Given the description of an element on the screen output the (x, y) to click on. 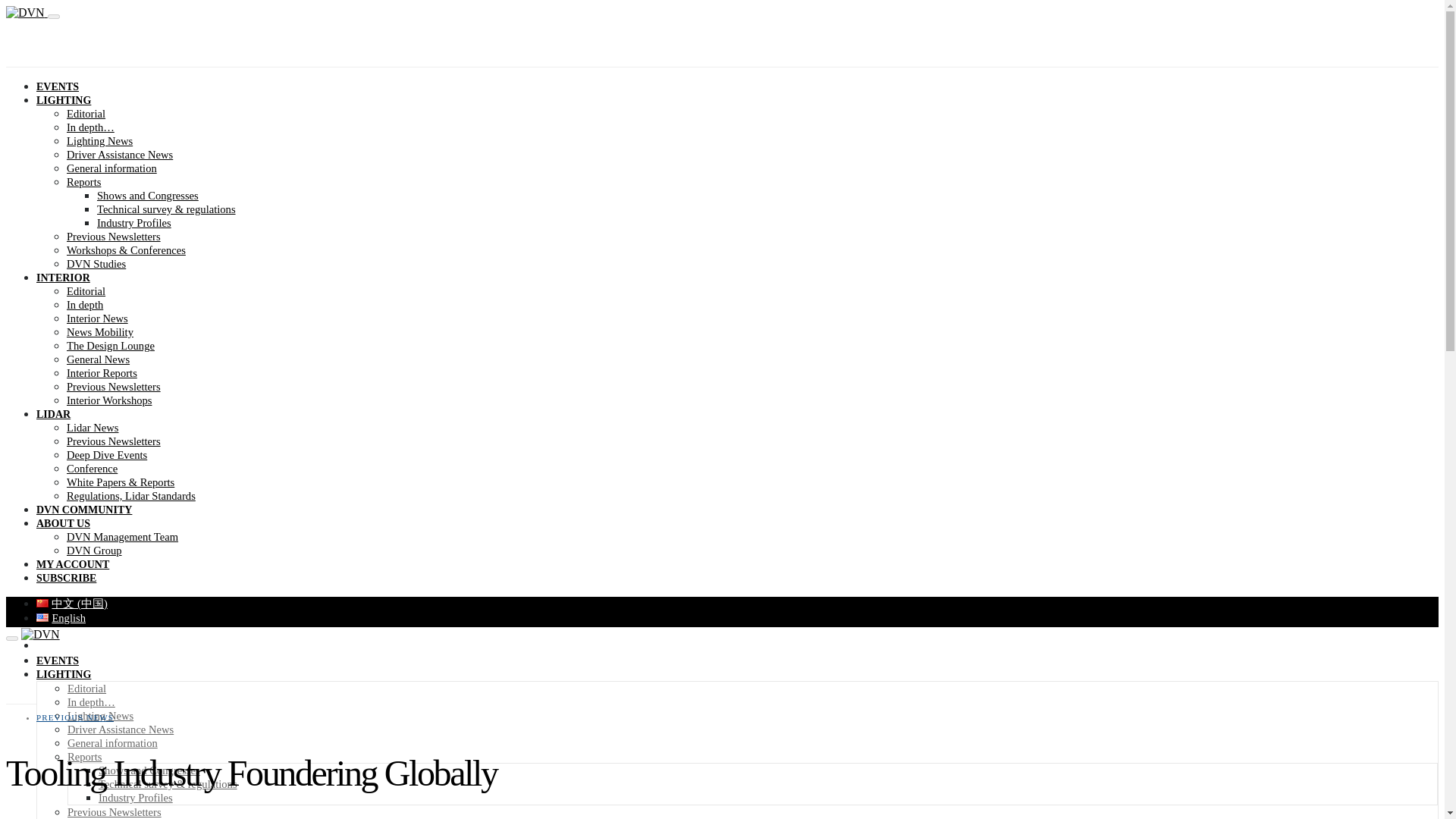
Deep Dive Events (106, 454)
LIGHTING (63, 100)
Editorial (85, 113)
Interior Reports (101, 372)
SUBSCRIBE (66, 577)
DVN COMMUNITY (84, 509)
Previous Newsletters (113, 236)
ABOUT US (63, 523)
Previous Newsletters (113, 440)
MY ACCOUNT (72, 564)
Regulations, Lidar Standards (130, 495)
LIDAR (52, 414)
General information (111, 168)
General News (97, 358)
News Mobility (99, 331)
